Given the description of an element on the screen output the (x, y) to click on. 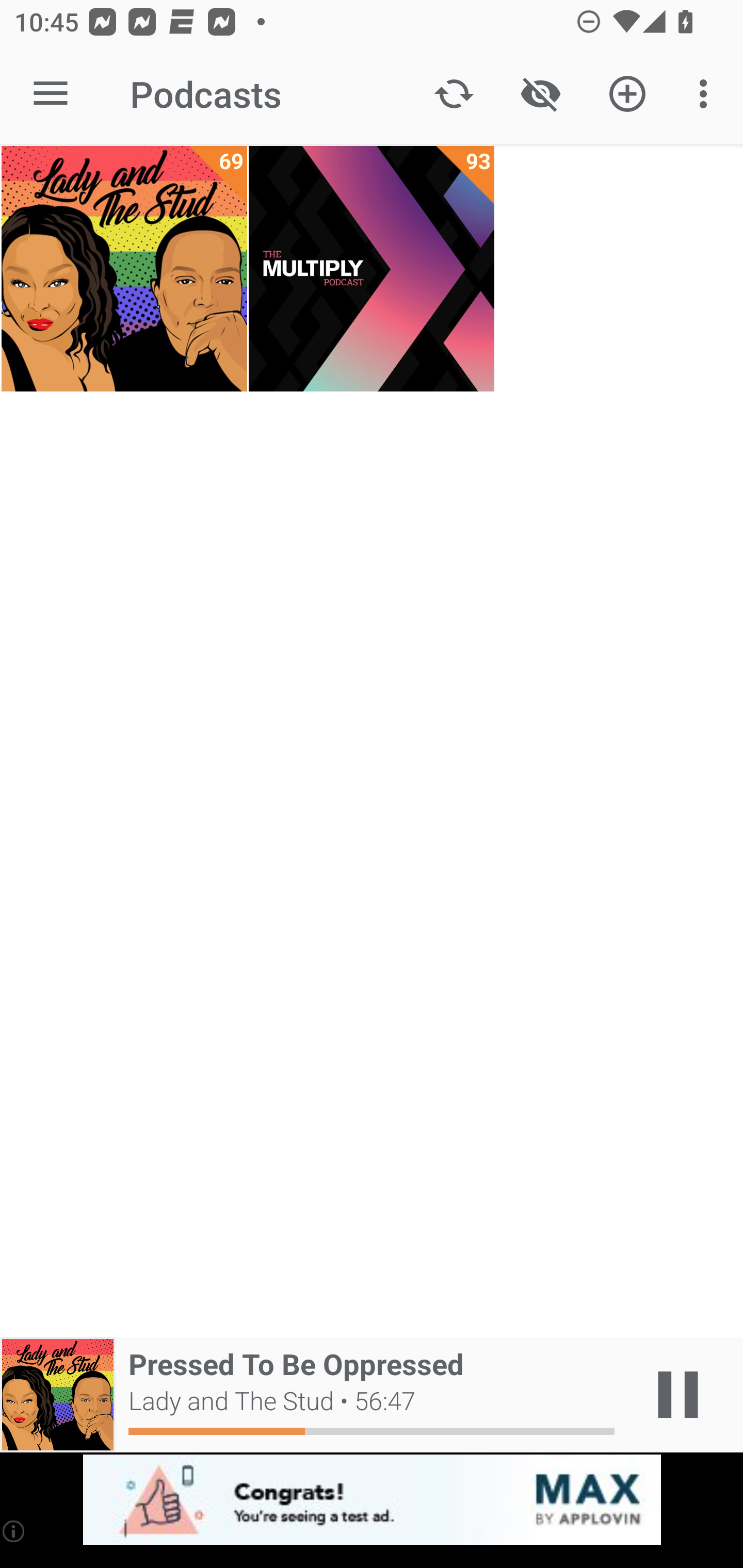
Open navigation sidebar (50, 93)
Update (453, 93)
Show / Hide played content (540, 93)
Add new Podcast (626, 93)
More options (706, 93)
Lady and The Stud 69 (124, 268)
The Multiply Podcast 93 (371, 268)
Play / Pause (677, 1394)
app-monetization (371, 1500)
(i) (14, 1531)
